Given the description of an element on the screen output the (x, y) to click on. 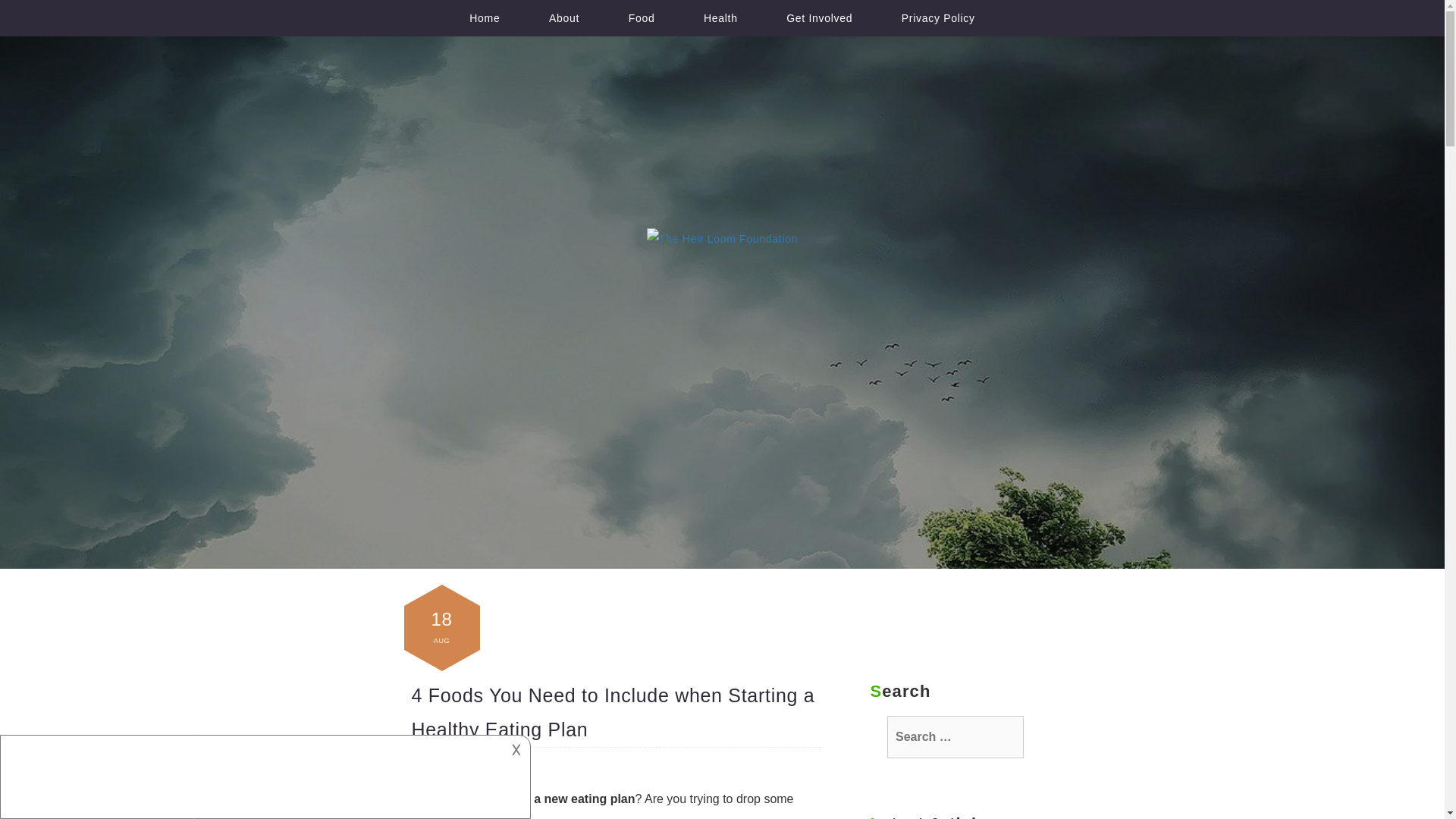
description (252, 773)
Health (720, 18)
Get Involved (818, 18)
Food (641, 18)
About (563, 18)
Search (15, 6)
Privacy Policy (938, 18)
Home (484, 18)
